Given the description of an element on the screen output the (x, y) to click on. 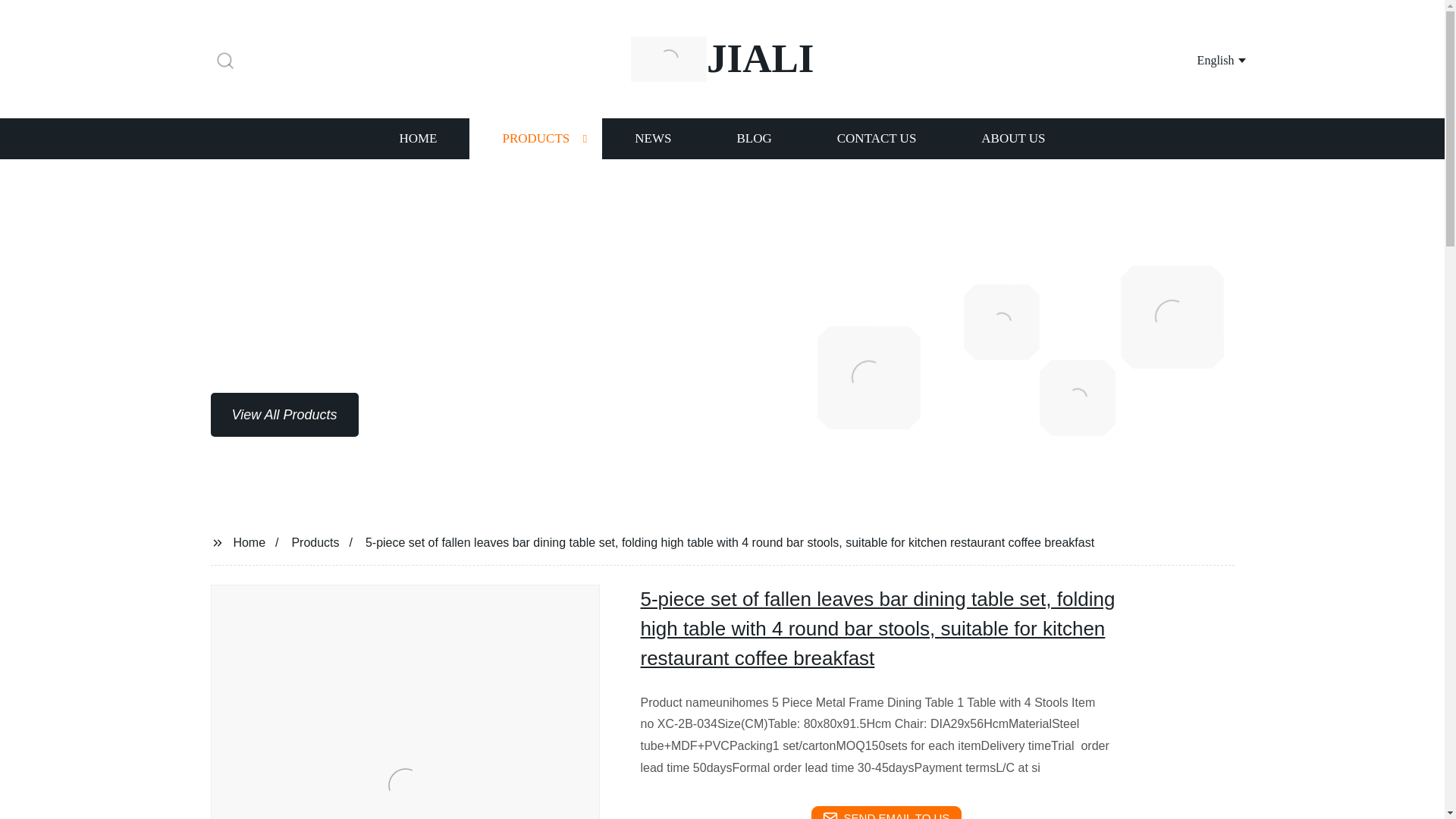
HOME (417, 137)
Home (248, 541)
CONTACT US (877, 137)
PRODUCTS (535, 137)
English (1203, 59)
ABOUT US (1013, 137)
Products (315, 541)
SEND EMAIL TO US (885, 812)
